Given the description of an element on the screen output the (x, y) to click on. 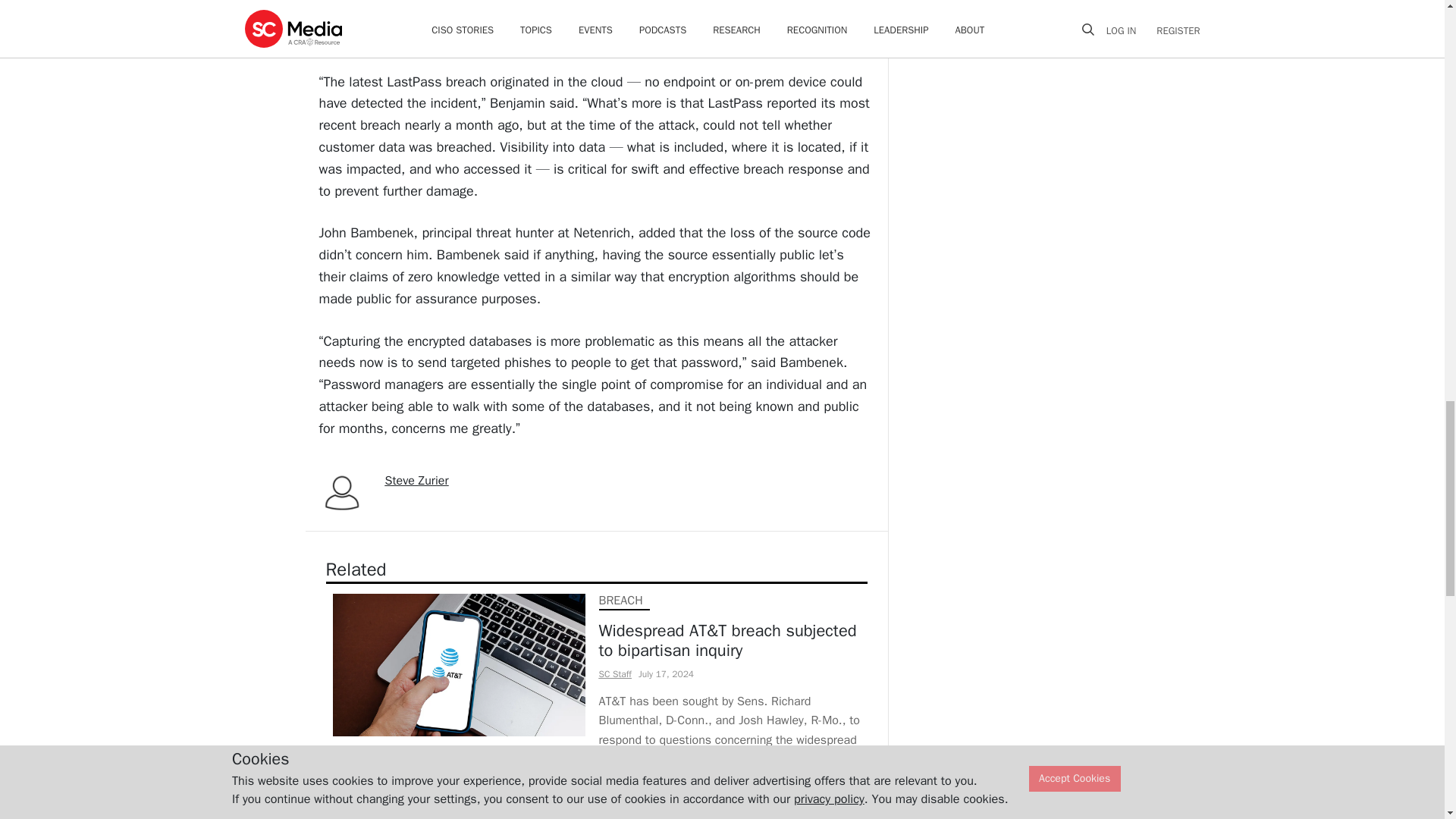
BREACH (620, 600)
prioritize cloud data security  (569, 2)
SC Staff (614, 674)
Steve Zurier (416, 480)
